Given the description of an element on the screen output the (x, y) to click on. 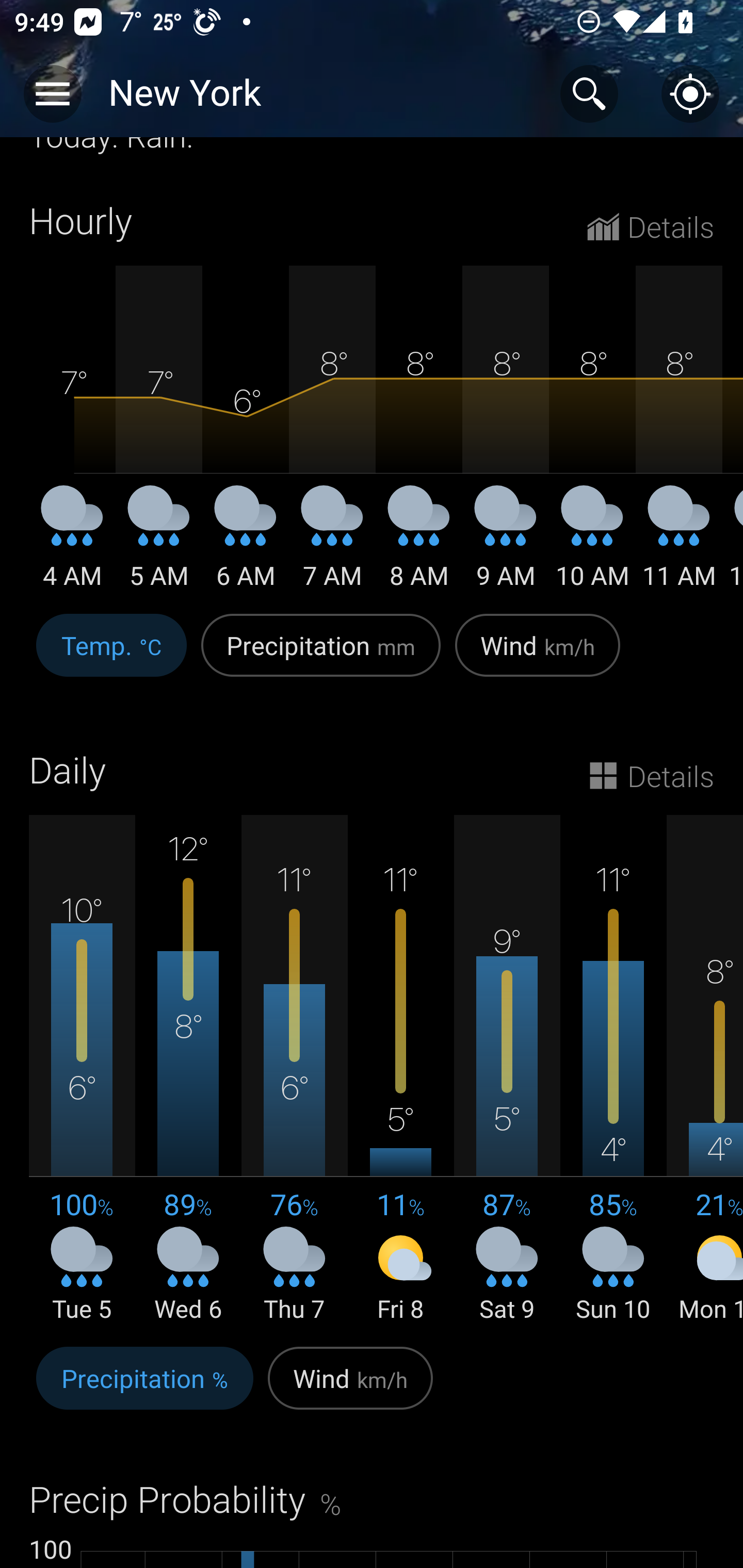
4 AM (71, 544)
5 AM (158, 544)
6 AM (245, 544)
7 AM (332, 544)
8 AM (418, 544)
9 AM (505, 544)
10 AM (592, 544)
11 AM (679, 544)
Temp. °C (110, 655)
Precipitation mm (320, 655)
Wind km/h (537, 655)
10° 6° 100 % Tue 5 (81, 1069)
12° 8° 89 % Wed 6 (188, 1069)
11° 6° 76 % Thu 7 (294, 1069)
11° 5° 11 % Fri 8 (400, 1069)
9° 5° 87 % Sat 9 (506, 1069)
11° 4° 85 % Sun 10 (613, 1069)
8° 4° 21 % Mon 11 (704, 1069)
Precipitation % (144, 1388)
Wind km/h (349, 1388)
